Given the description of an element on the screen output the (x, y) to click on. 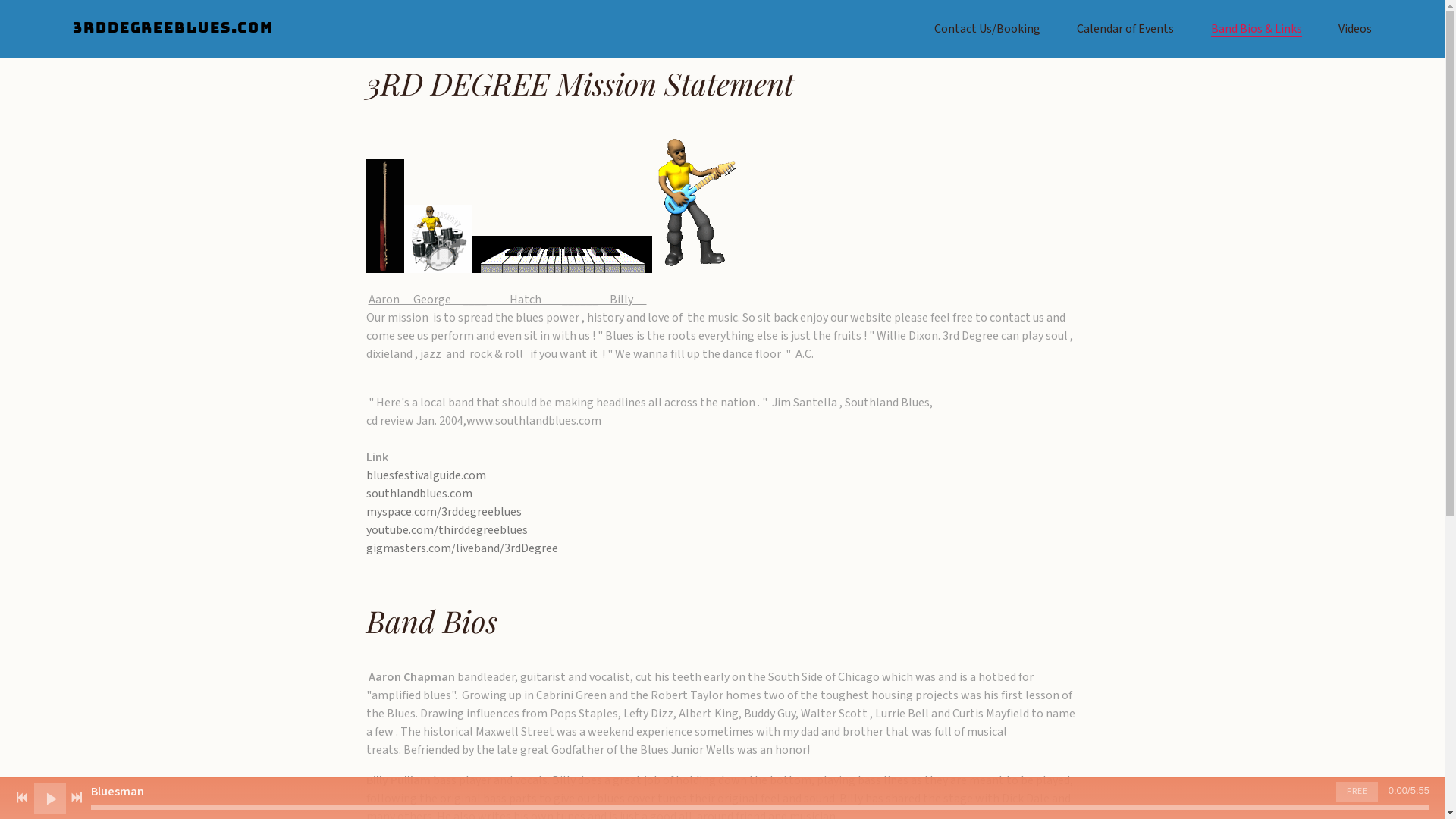
southlandblues.com Element type: text (418, 493)
FREE Element type: text (1356, 791)
youtube.com/thirddegreeblues Element type: text (446, 529)
Contact Us/Booking Element type: text (987, 29)
Videos Element type: text (1354, 29)
Next track Element type: hover (76, 797)
Play Element type: hover (49, 797)
Calendar of Events Element type: text (1124, 29)
myspace.com/3rddegreeblues Element type: text (442, 511)
3rdDegreeBlues.com Element type: text (172, 28)
Previous track Element type: hover (21, 797)
gigmasters.com/liveband/3rdDegree Element type: text (461, 547)
bluesfestivalguide.com Element type: text (425, 475)
Band Bios & Links Element type: text (1256, 29)
